Given the description of an element on the screen output the (x, y) to click on. 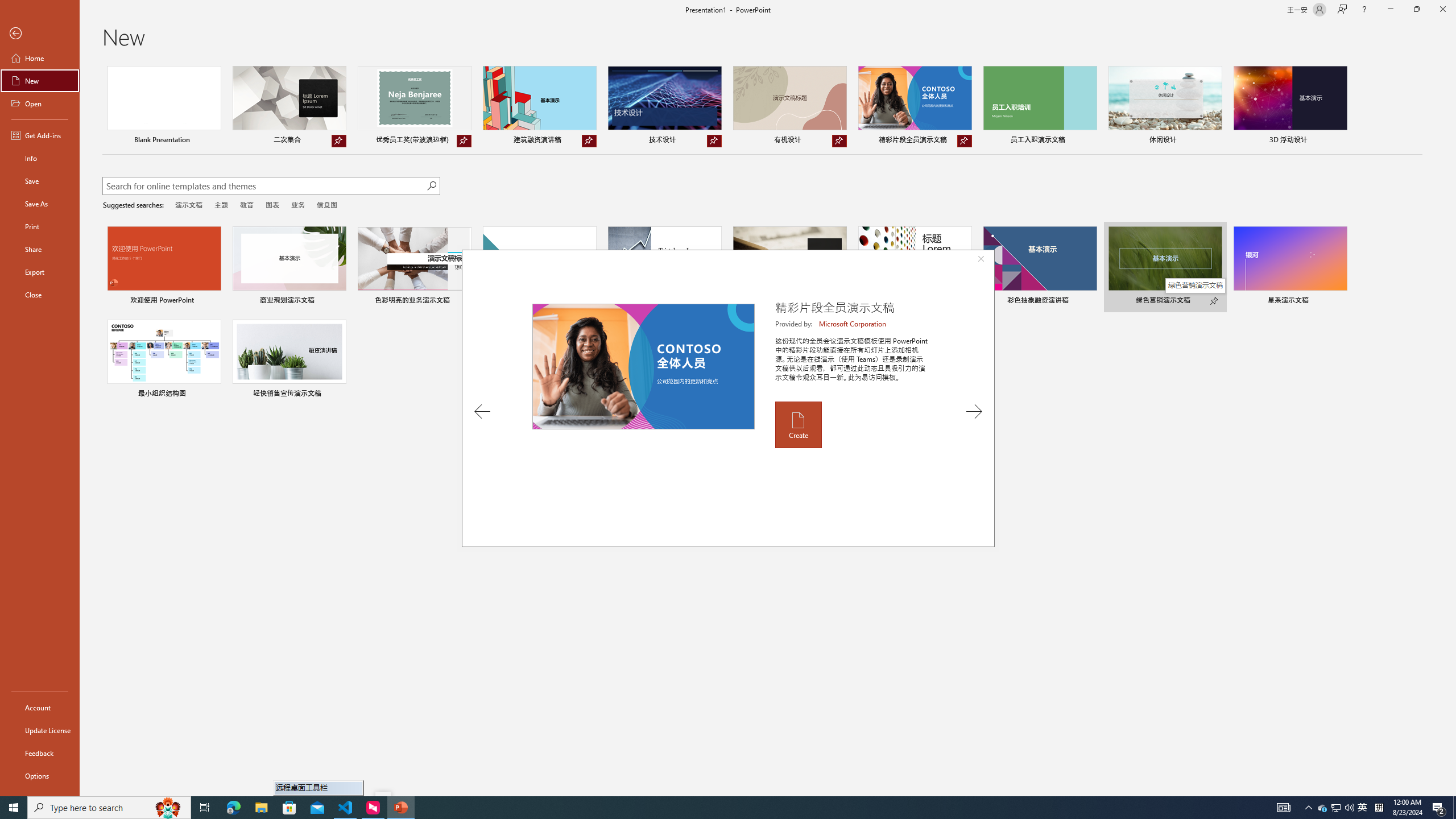
Options (40, 775)
Start searching (431, 185)
Microsoft Corporation (853, 323)
New (40, 80)
